Given the description of an element on the screen output the (x, y) to click on. 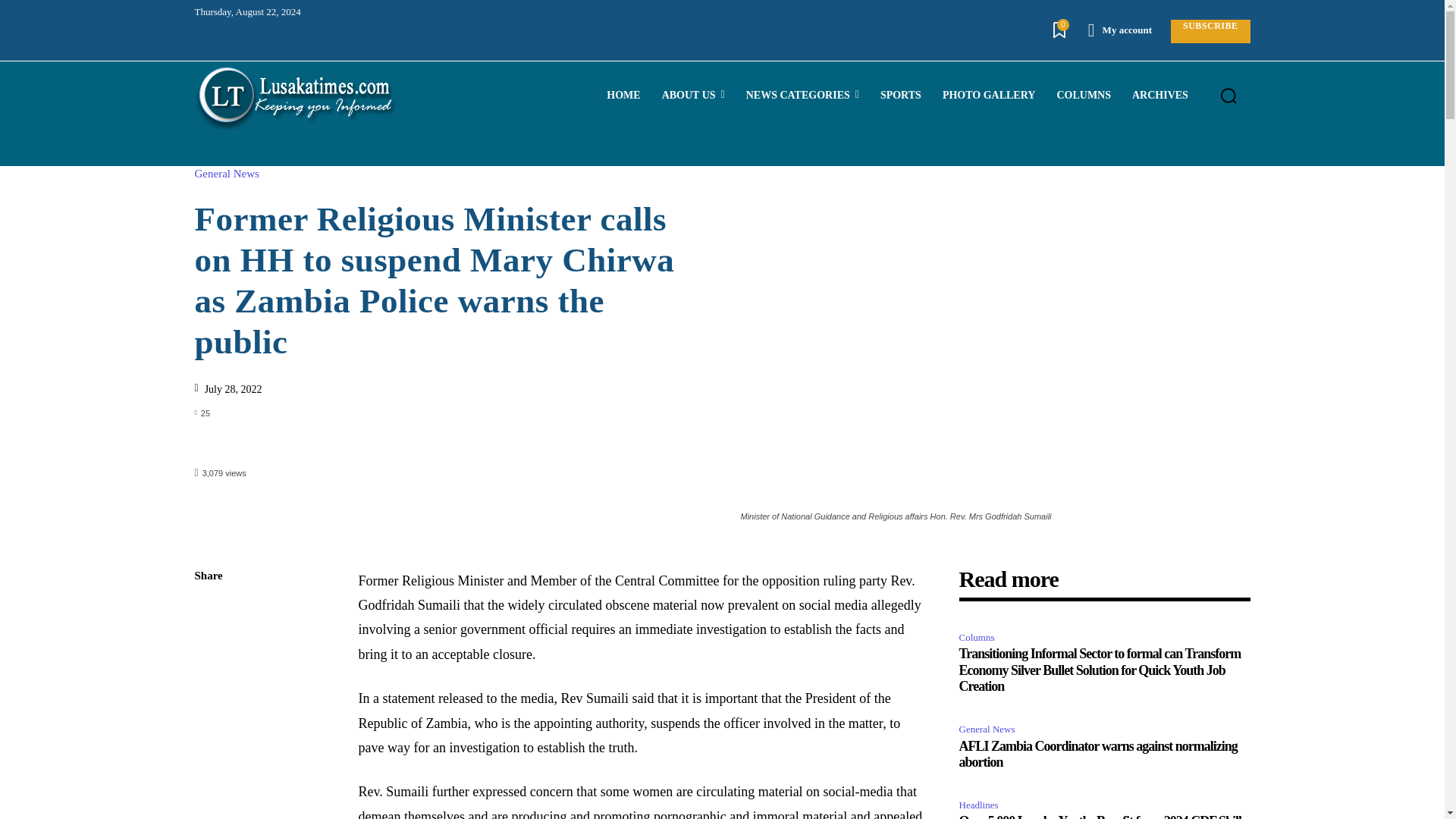
Lusaka Times (295, 95)
Subscribe (1210, 31)
SUBSCRIBE (1210, 31)
